Given the description of an element on the screen output the (x, y) to click on. 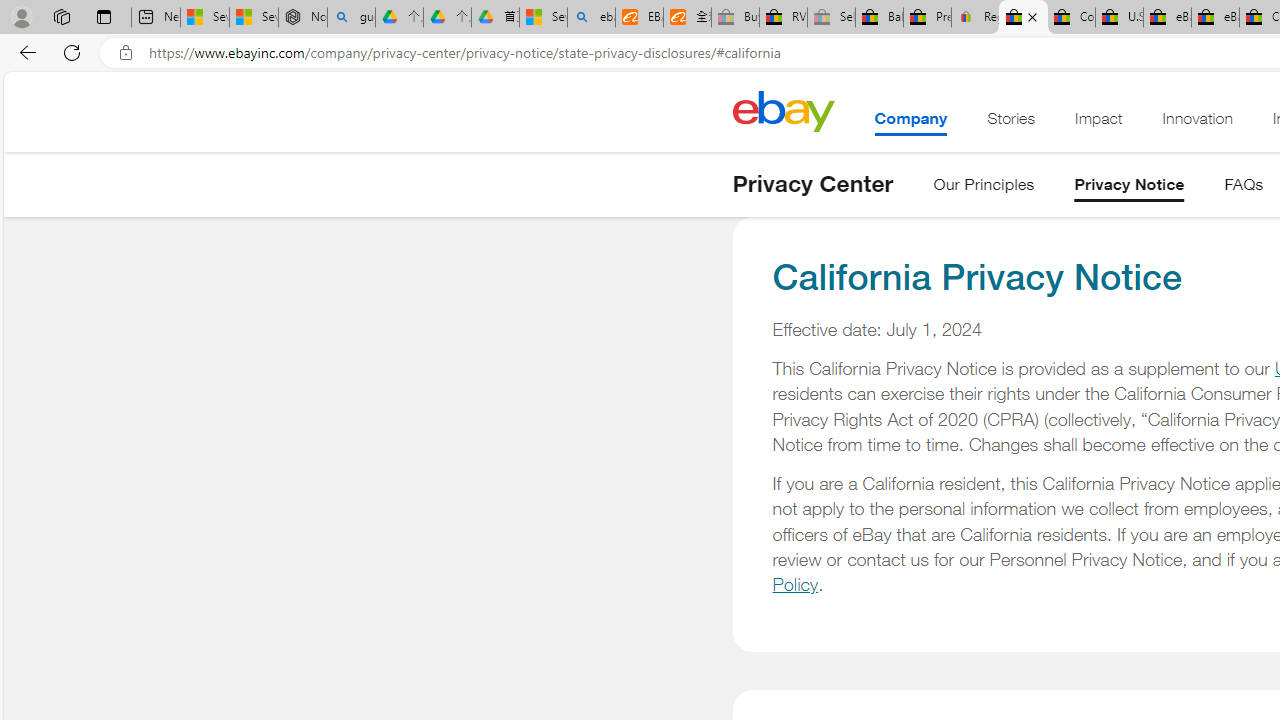
Our Principles (984, 188)
Consumer Health Data Privacy Policy - eBay Inc. (1071, 17)
guge yunpan - Search (351, 17)
Press Room - eBay Inc. (927, 17)
eBay Inc. Reports Third Quarter 2023 Results (1215, 17)
FAQs (1243, 188)
RV, Trailer & Camper Steps & Ladders for sale | eBay (783, 17)
